Given the description of an element on the screen output the (x, y) to click on. 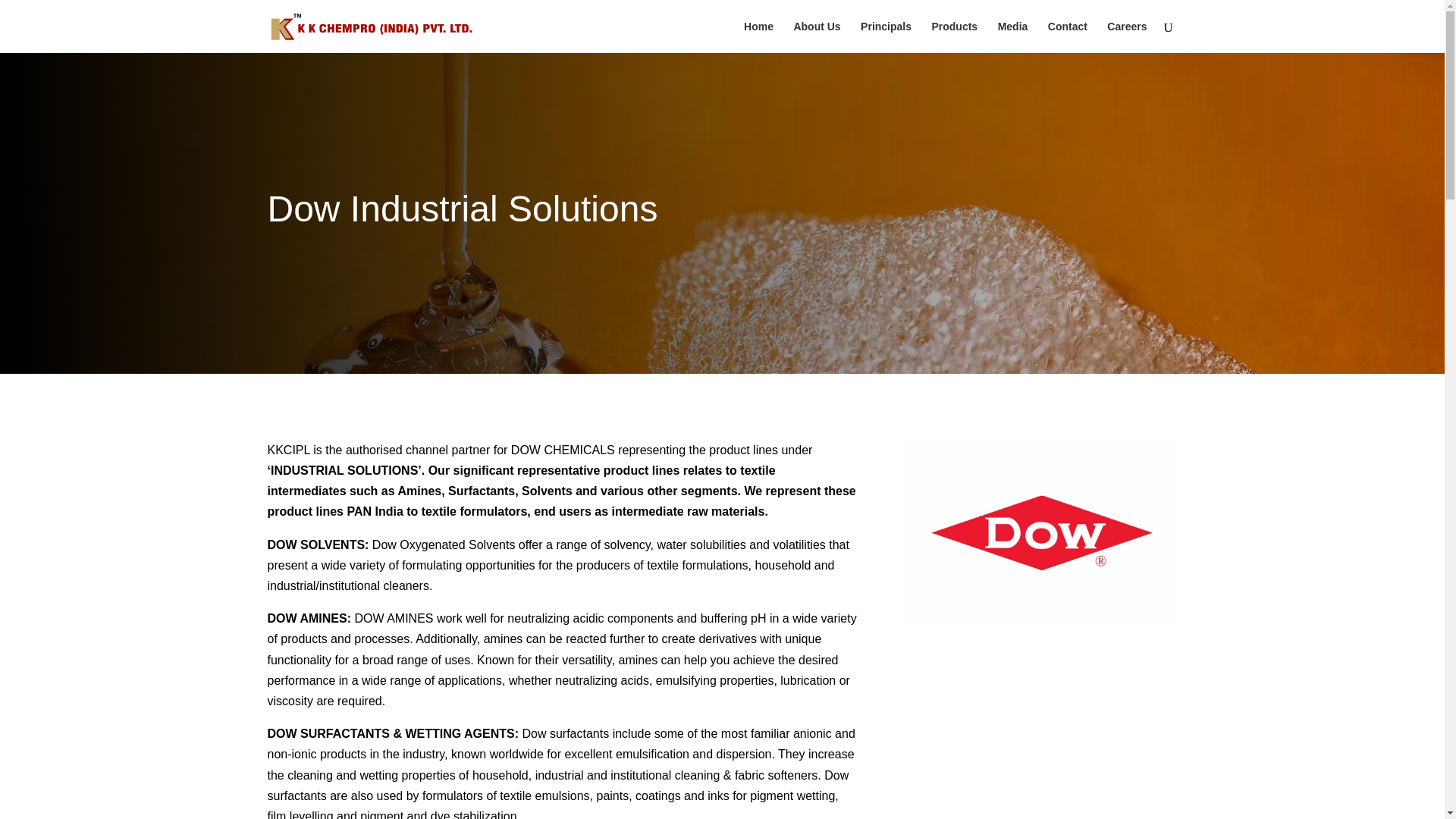
Principals (885, 37)
Contact (1067, 37)
Careers (1126, 37)
Media (1012, 37)
About Us (816, 37)
Products (953, 37)
Home (758, 37)
Logo-Dow (1041, 532)
